Given the description of an element on the screen output the (x, y) to click on. 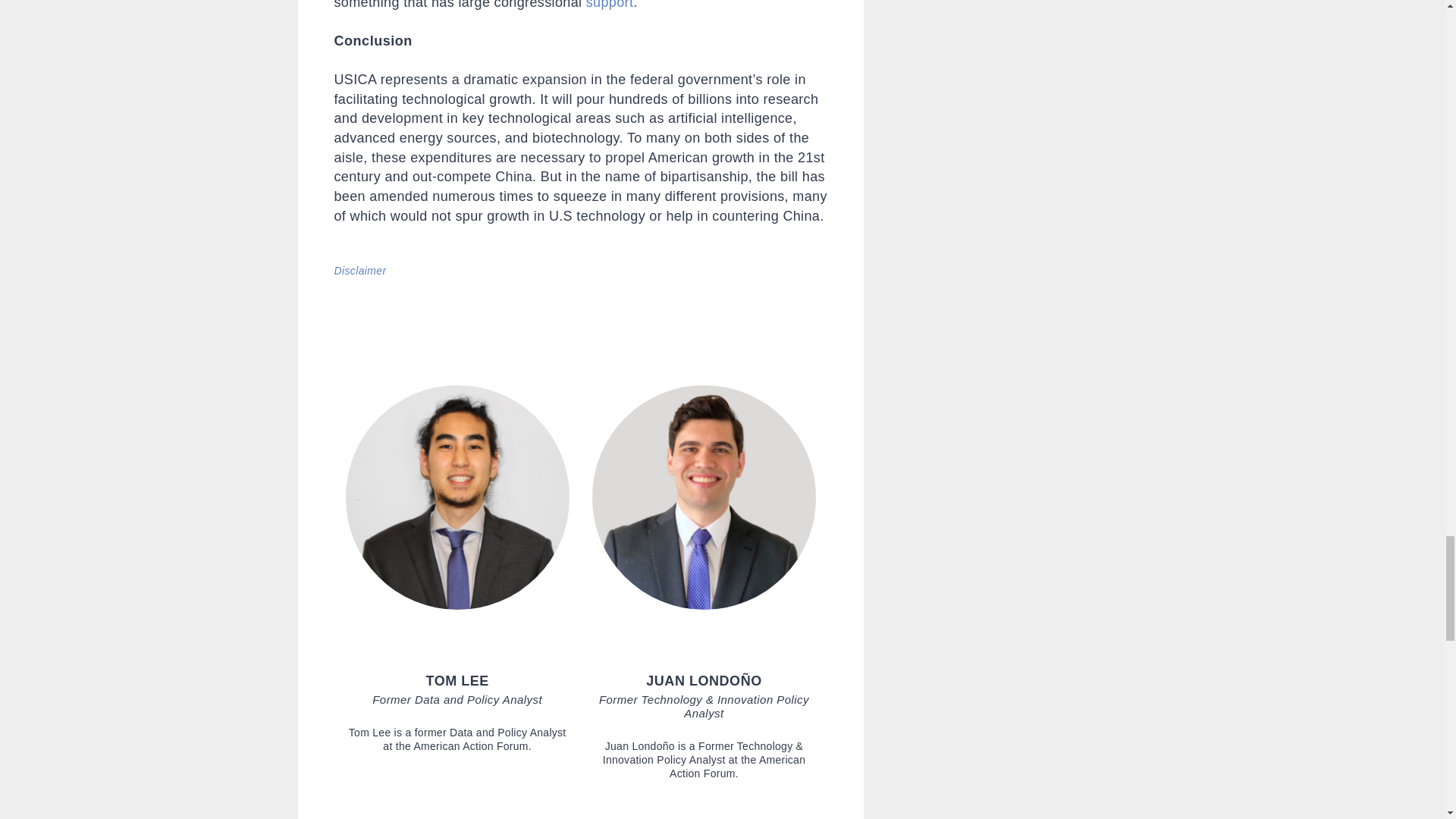
Disclaimer (359, 270)
support (609, 4)
